Given the description of an element on the screen output the (x, y) to click on. 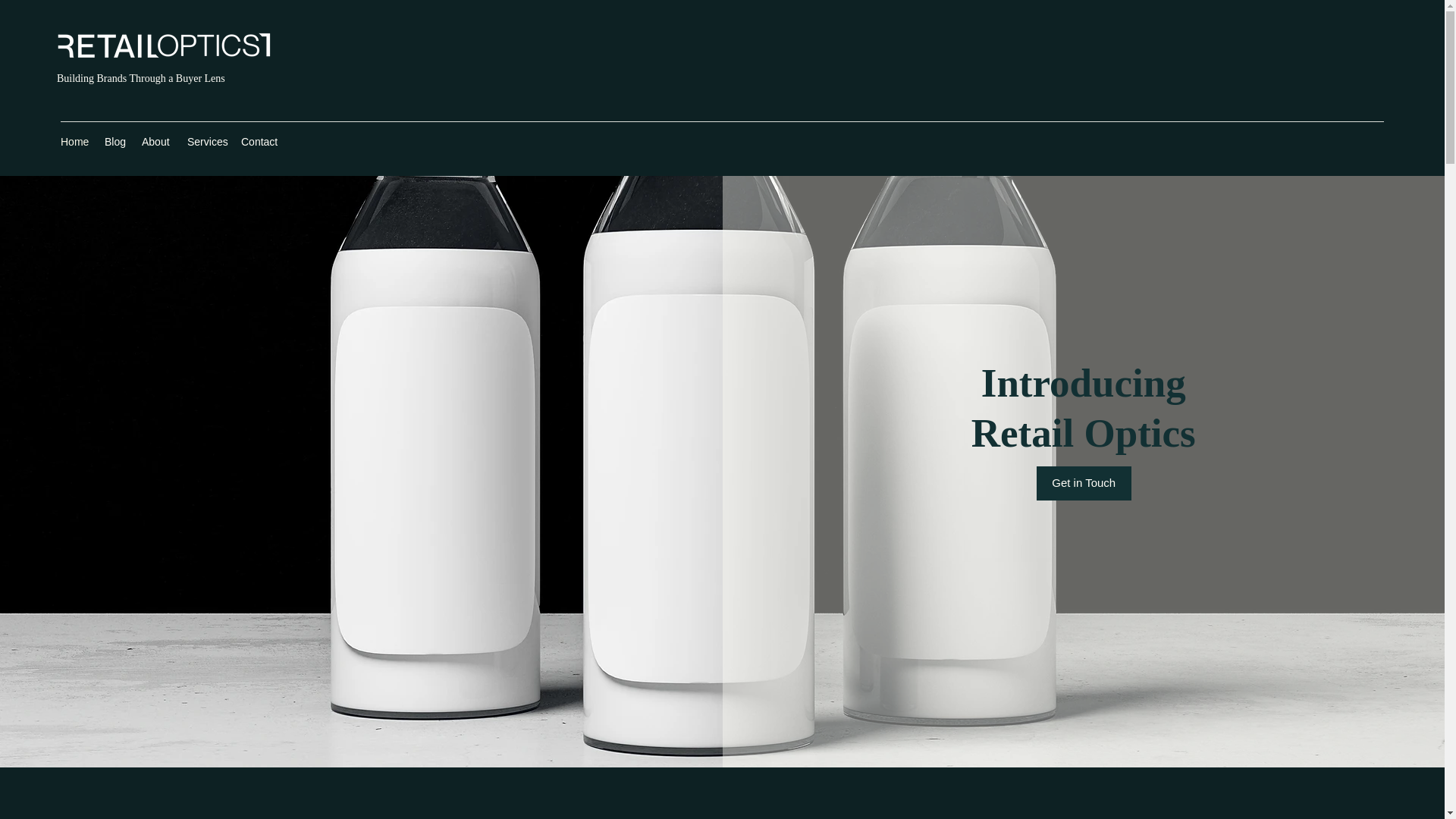
Blog (115, 141)
Contact (259, 141)
Home (74, 141)
Services (205, 141)
Get in Touch (1083, 482)
About (156, 141)
